Given the description of an element on the screen output the (x, y) to click on. 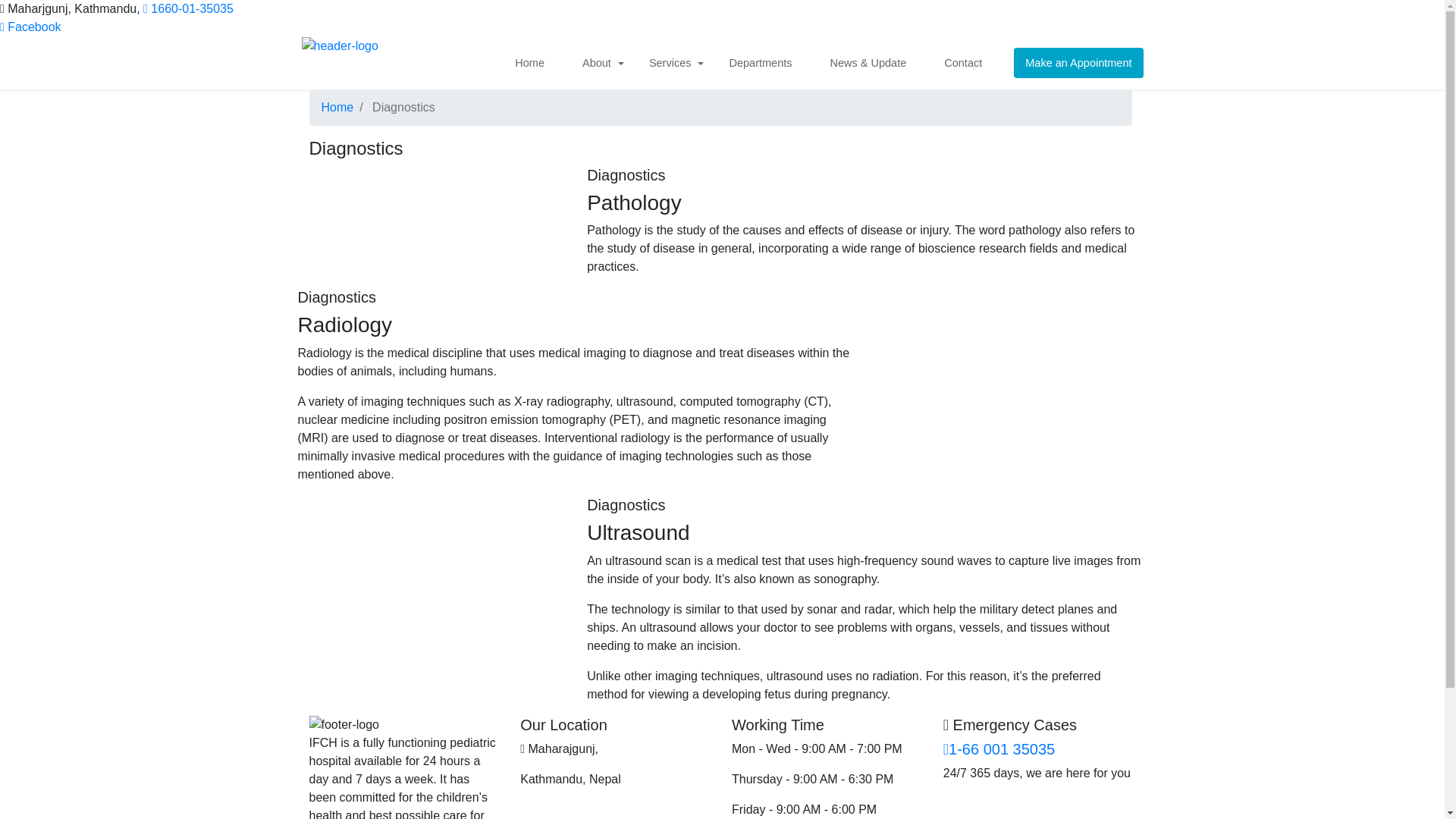
Home (337, 106)
Home (534, 62)
About (601, 62)
Facebook (30, 26)
Make an Appointment (1077, 62)
Departments (764, 62)
1660-01-35035 (187, 8)
Facebook (30, 26)
Contact (968, 62)
Services (675, 62)
1-66 001 35035 (998, 749)
